Given the description of an element on the screen output the (x, y) to click on. 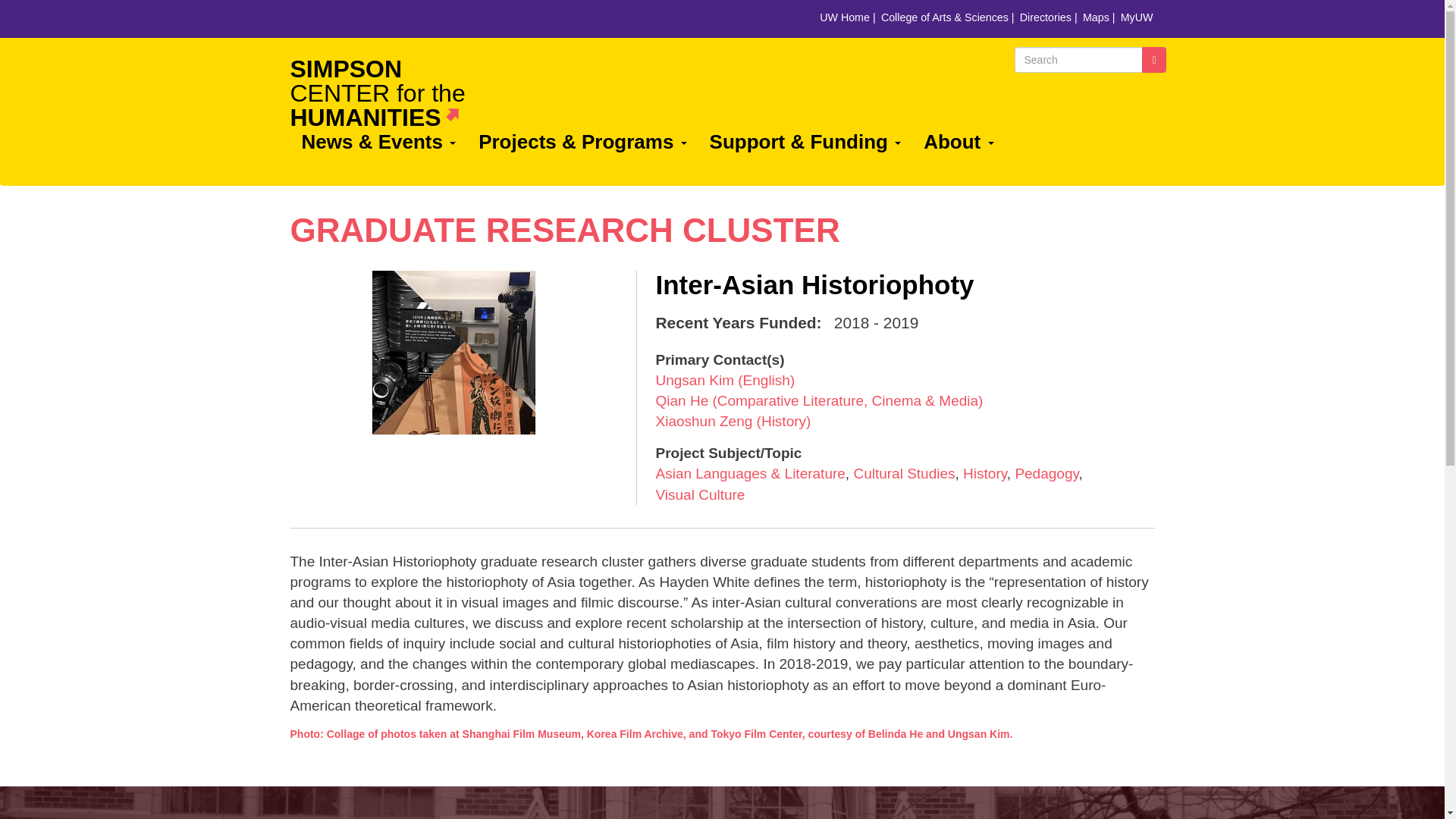
University of Washington (450, 22)
MyUW (1137, 17)
Pedagogy (1046, 473)
Maps (1099, 17)
Search (1153, 59)
History (984, 473)
Directories (384, 93)
Cultural Studies (1048, 17)
GRADUATE RESEARCH CLUSTER (904, 473)
University of Washington (564, 229)
Skip to main content (309, 19)
University of Washington Home (450, 22)
UW Home (309, 19)
